Given the description of an element on the screen output the (x, y) to click on. 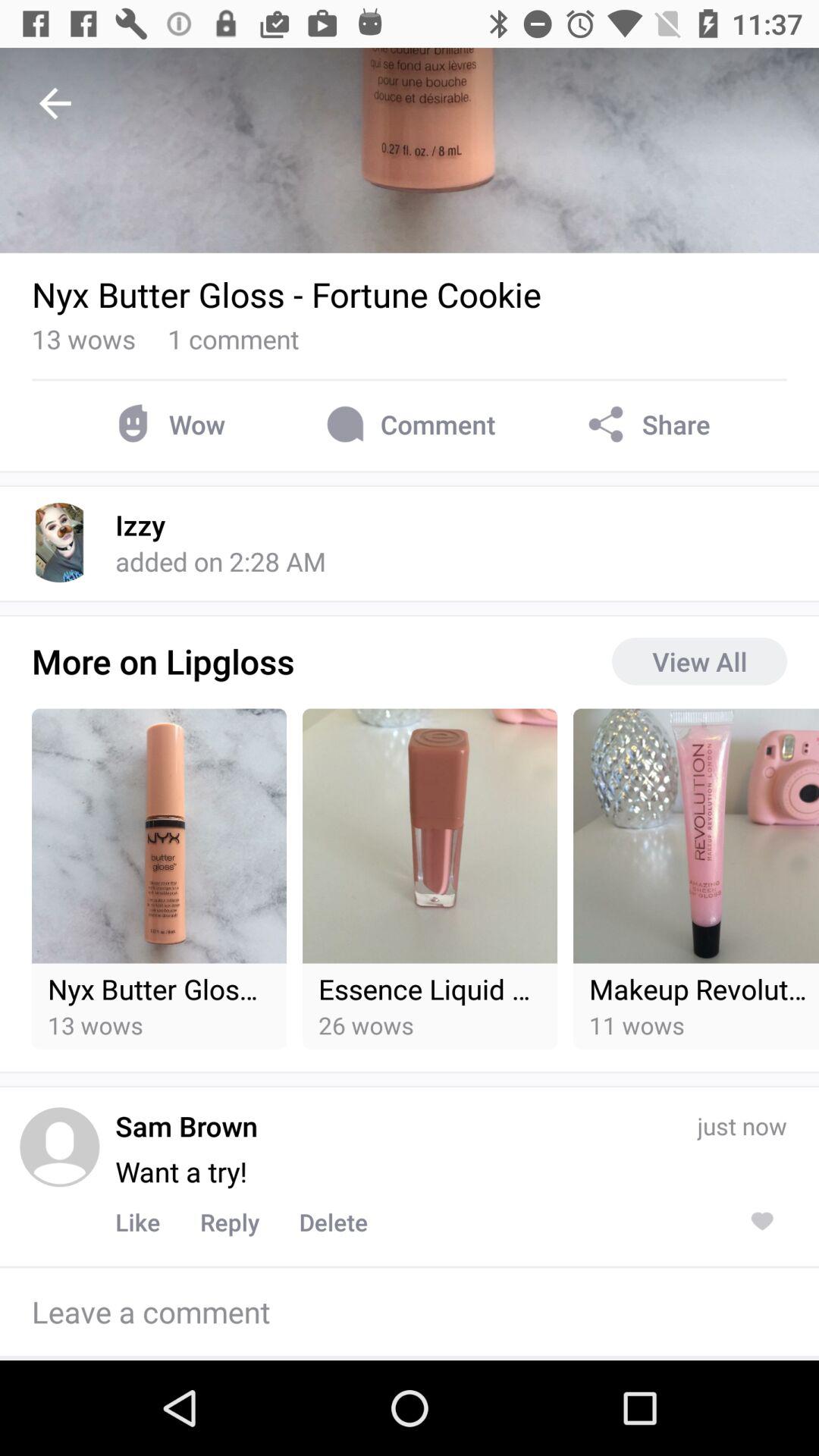
press the 1 comment (233, 338)
